Given the description of an element on the screen output the (x, y) to click on. 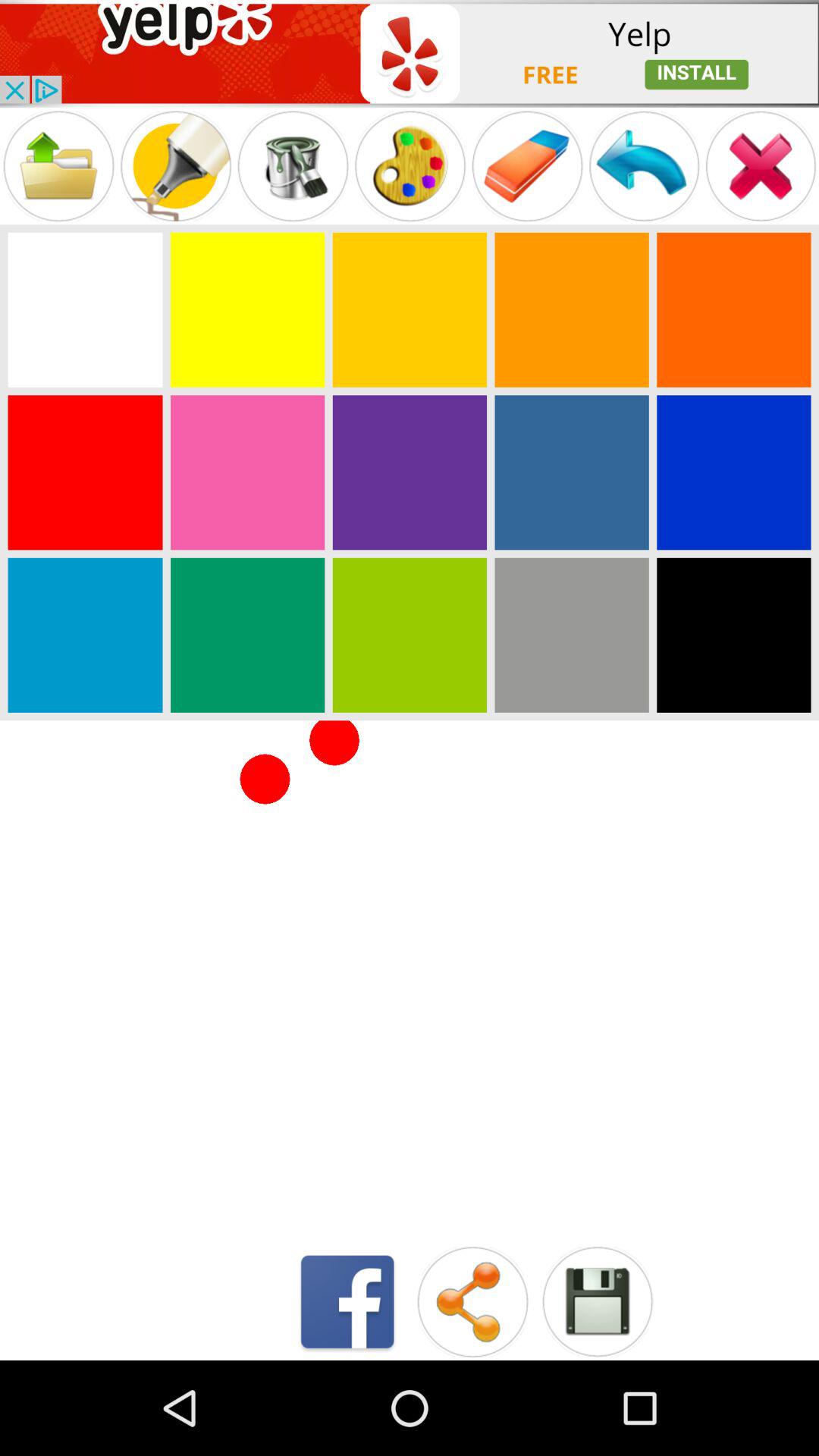
sect blue color (733, 472)
